Given the description of an element on the screen output the (x, y) to click on. 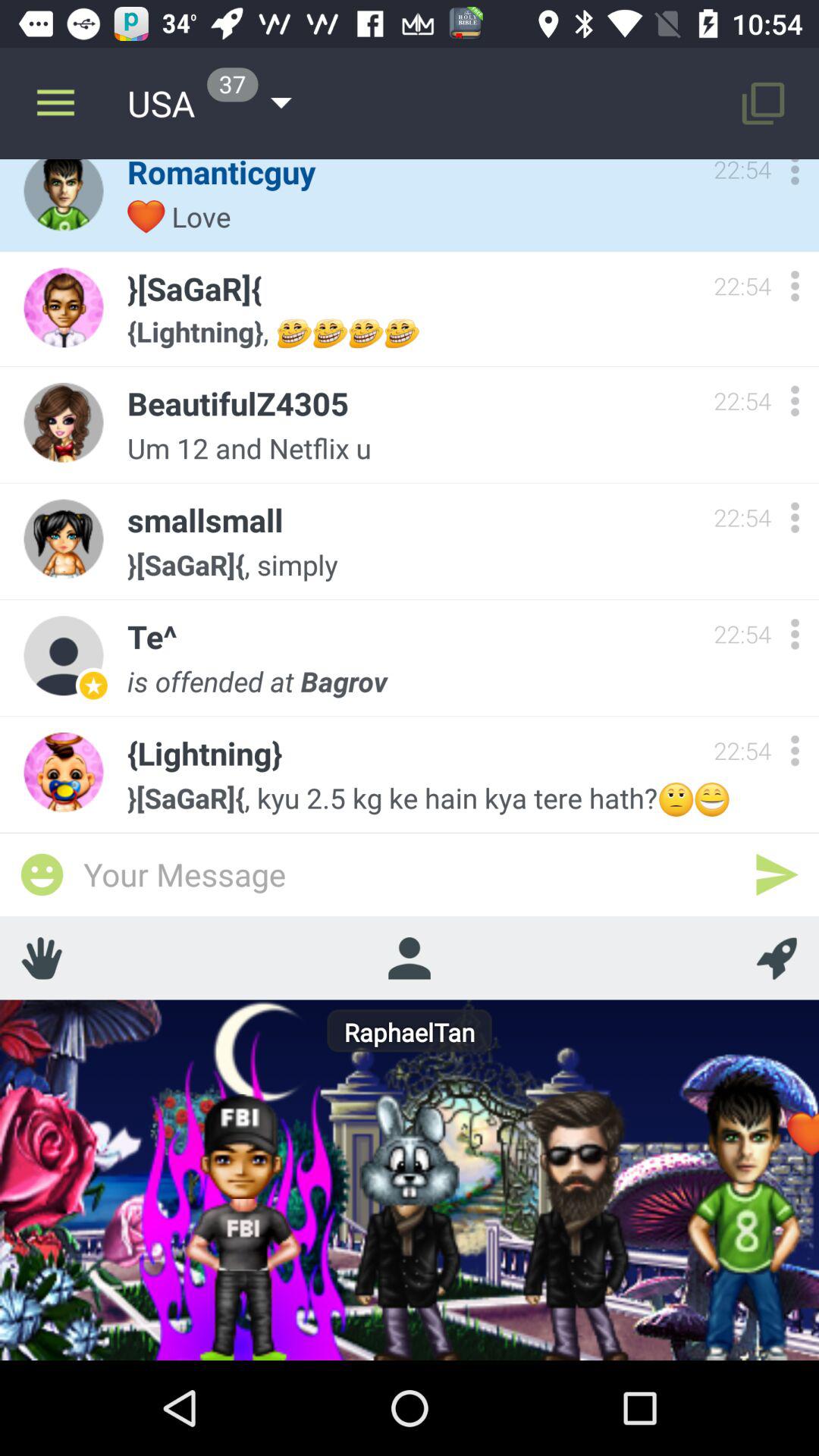
select a last icon which is above emoji icon (64, 772)
